Given the description of an element on the screen output the (x, y) to click on. 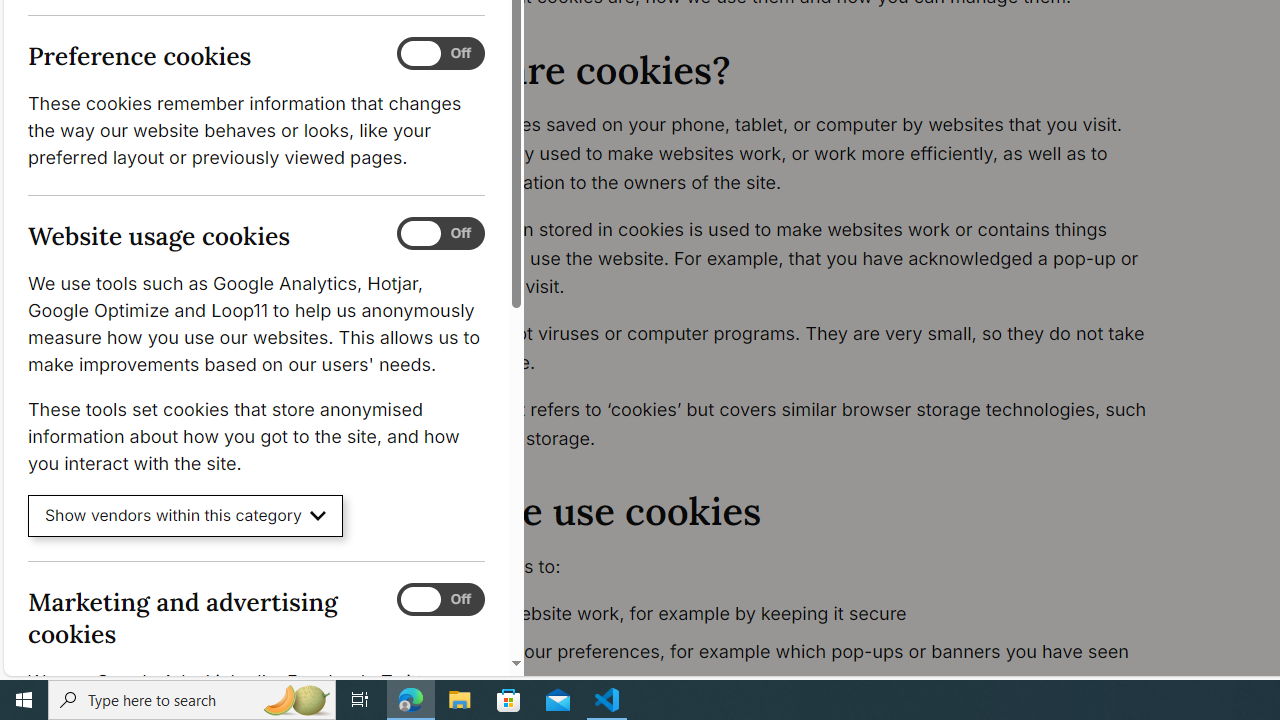
Show vendors within this category (185, 516)
Preference cookies (440, 53)
Marketing and advertising cookies (440, 599)
make our website work, for example by keeping it secure (796, 614)
Website usage cookies (440, 233)
